Given the description of an element on the screen output the (x, y) to click on. 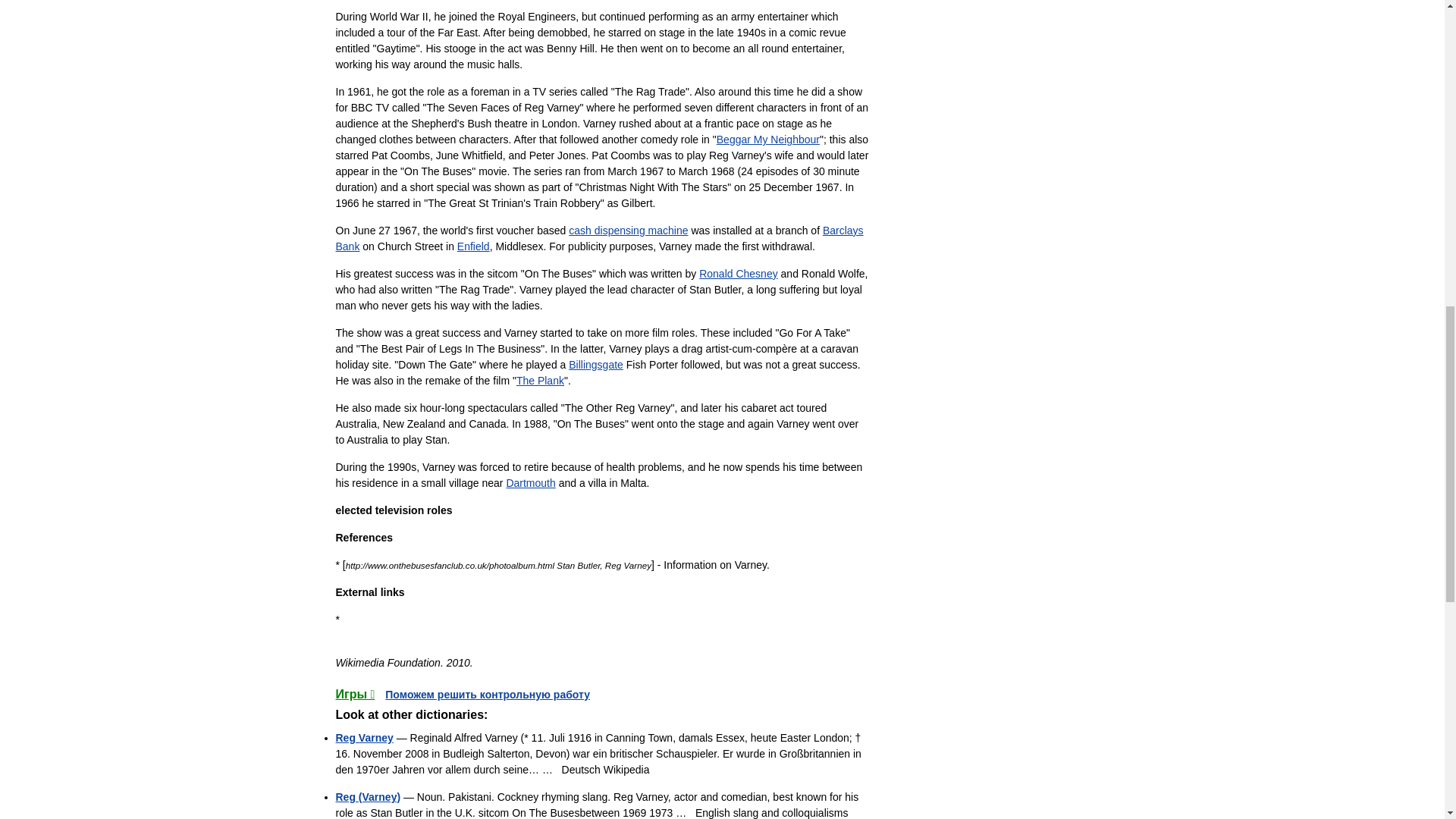
Enfield (473, 246)
Ronald Chesney (737, 273)
cash dispensing machine (628, 230)
Billingsgate (596, 364)
Dartmouth (529, 482)
Beggar My Neighbour (767, 139)
Barclays Bank (598, 238)
Reg Varney (363, 737)
The Plank (540, 380)
